Given the description of an element on the screen output the (x, y) to click on. 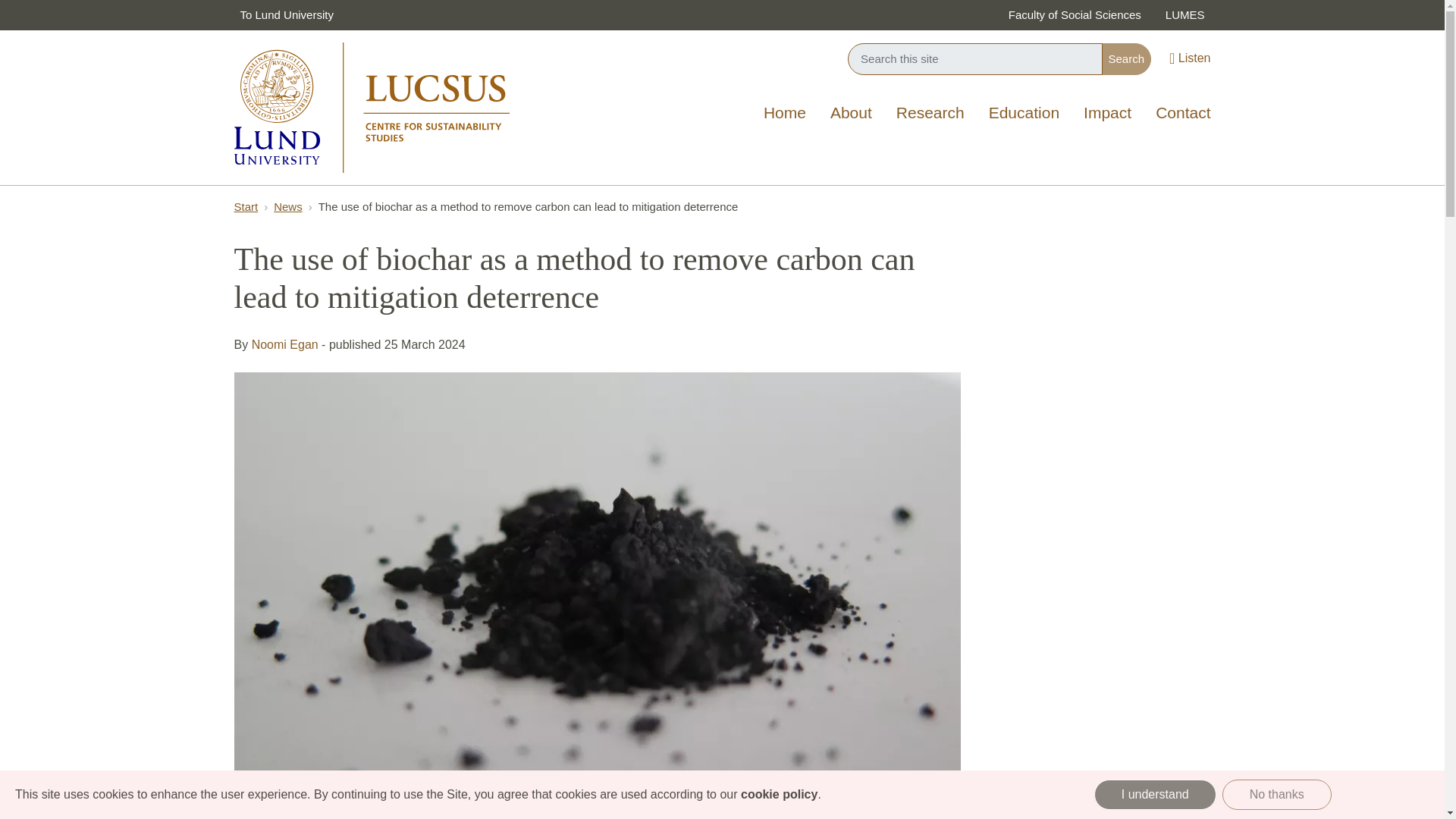
Impact (1106, 113)
Listen (1189, 59)
Search (1125, 59)
Education (1023, 113)
To Lund University (286, 15)
No thanks (1277, 794)
Faculty of Social Sciences (1074, 15)
I understand (1154, 794)
Home (784, 113)
Search (1125, 59)
Contact (1182, 113)
LUMES (1185, 15)
cookie policy (778, 793)
About (850, 113)
Research (929, 113)
